Given the description of an element on the screen output the (x, y) to click on. 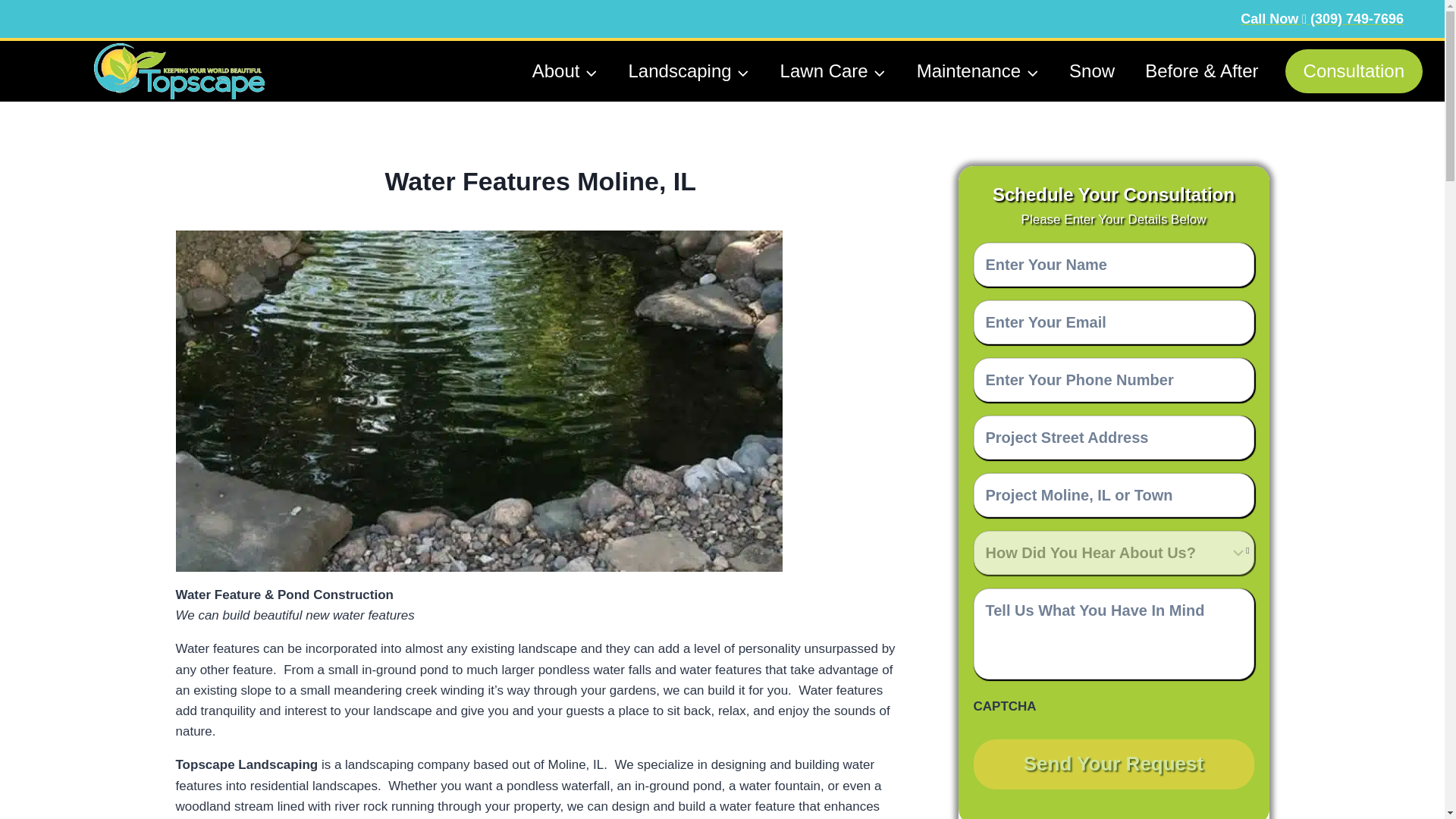
About (564, 70)
Send Your Request (1113, 764)
Maintenance (977, 70)
Landscaping (688, 70)
Snow (1091, 70)
Send Your Request (1113, 764)
Lawn Care (833, 70)
Consultation (1353, 71)
